Given the description of an element on the screen output the (x, y) to click on. 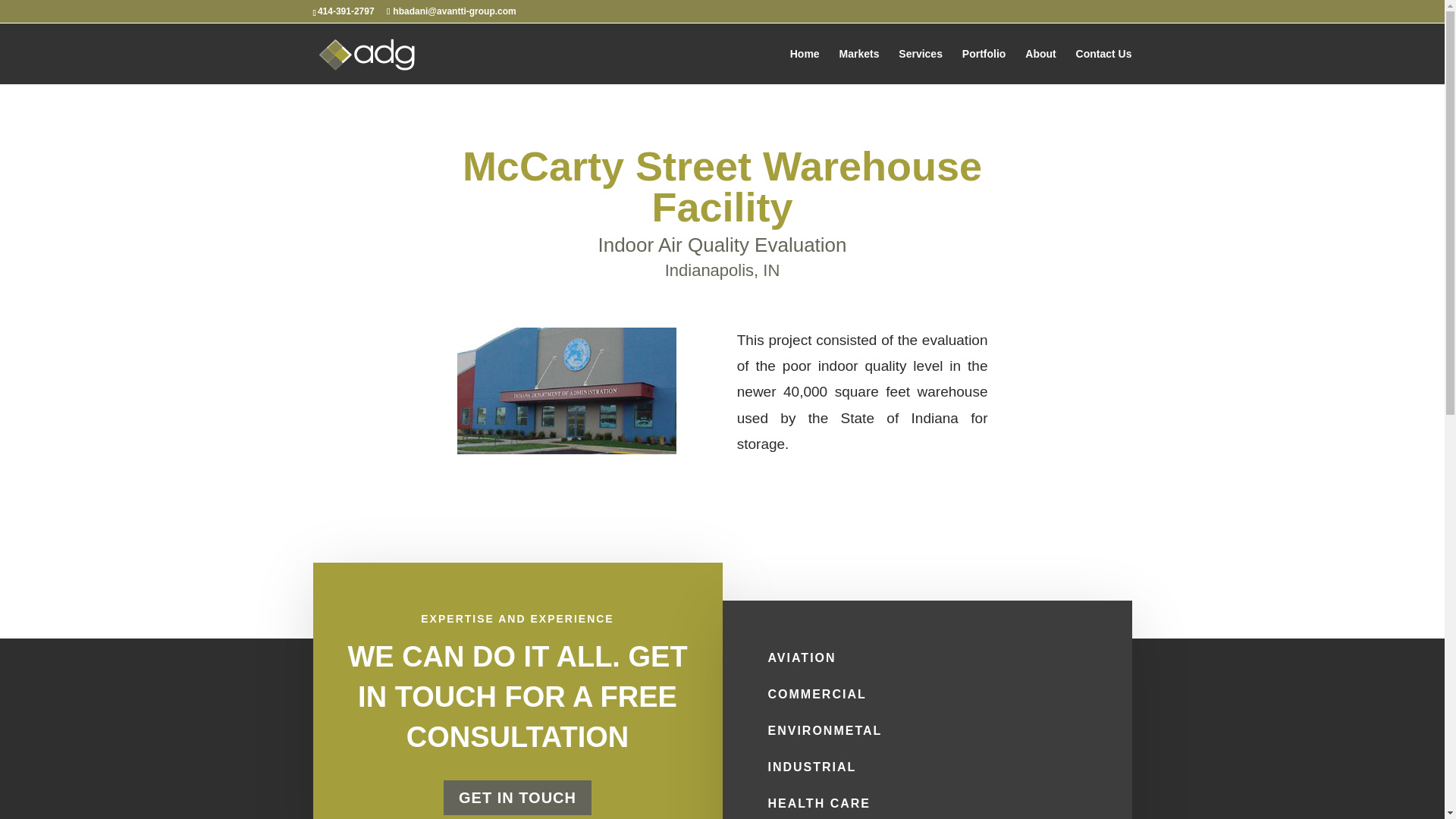
Contact Us (1103, 66)
Services (920, 66)
Markets (859, 66)
Portfolio (984, 66)
GET IN TOUCH (517, 796)
